Given the description of an element on the screen output the (x, y) to click on. 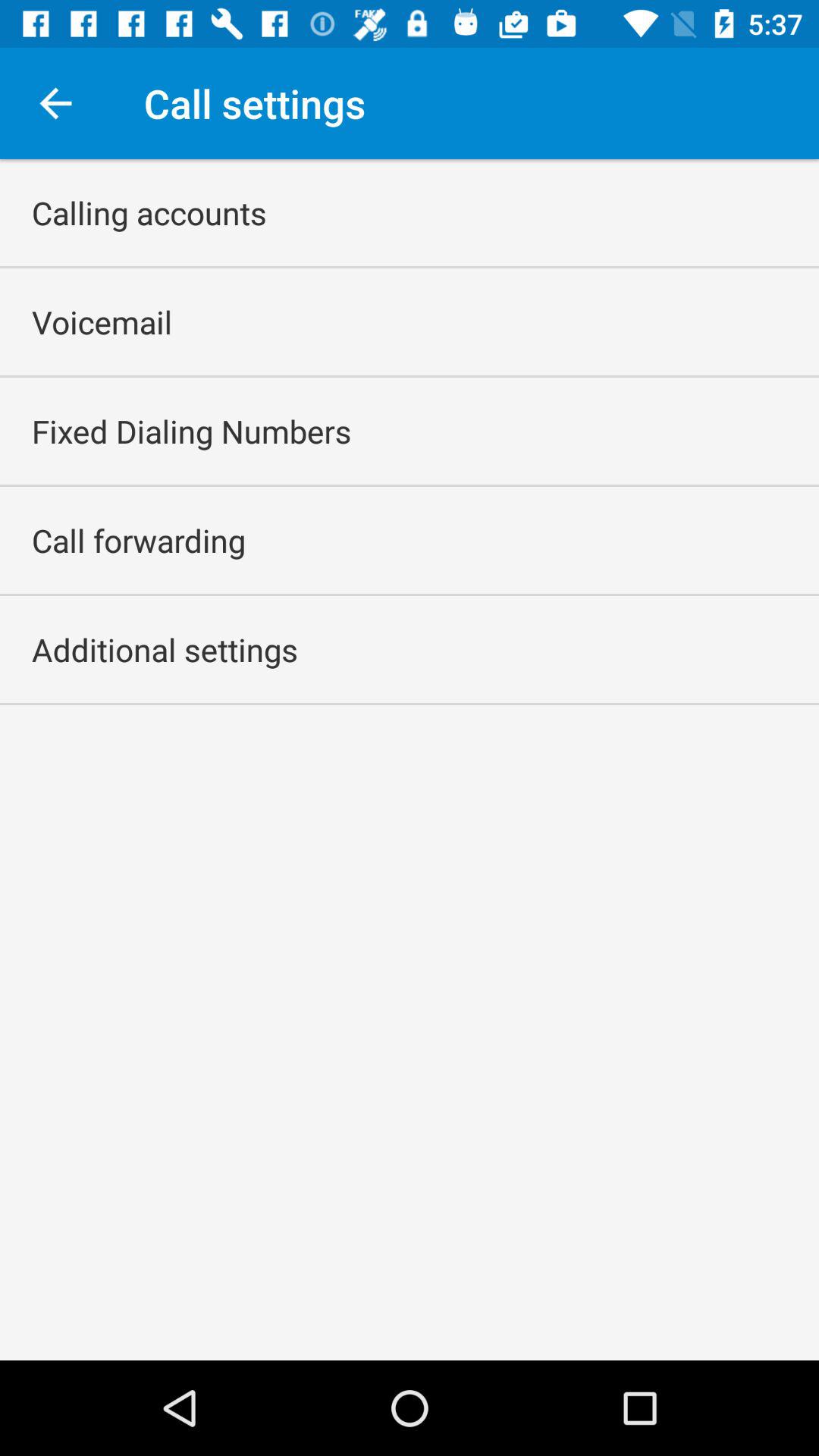
click fixed dialing numbers item (191, 430)
